Given the description of an element on the screen output the (x, y) to click on. 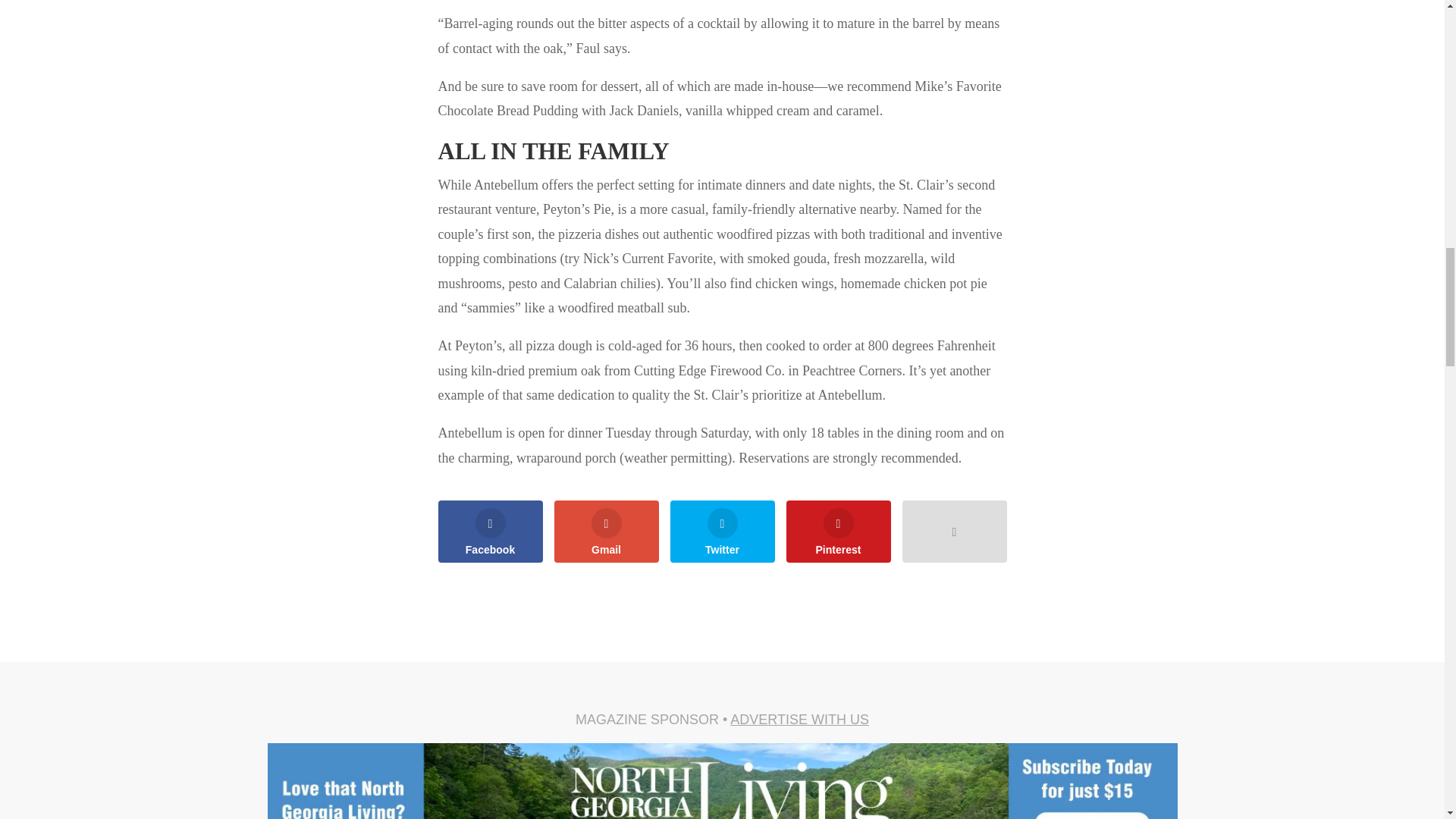
Gmail (605, 531)
Twitter (721, 531)
Facebook (490, 531)
ADVERTISE WITH US (799, 719)
Pinterest (837, 531)
